Given the description of an element on the screen output the (x, y) to click on. 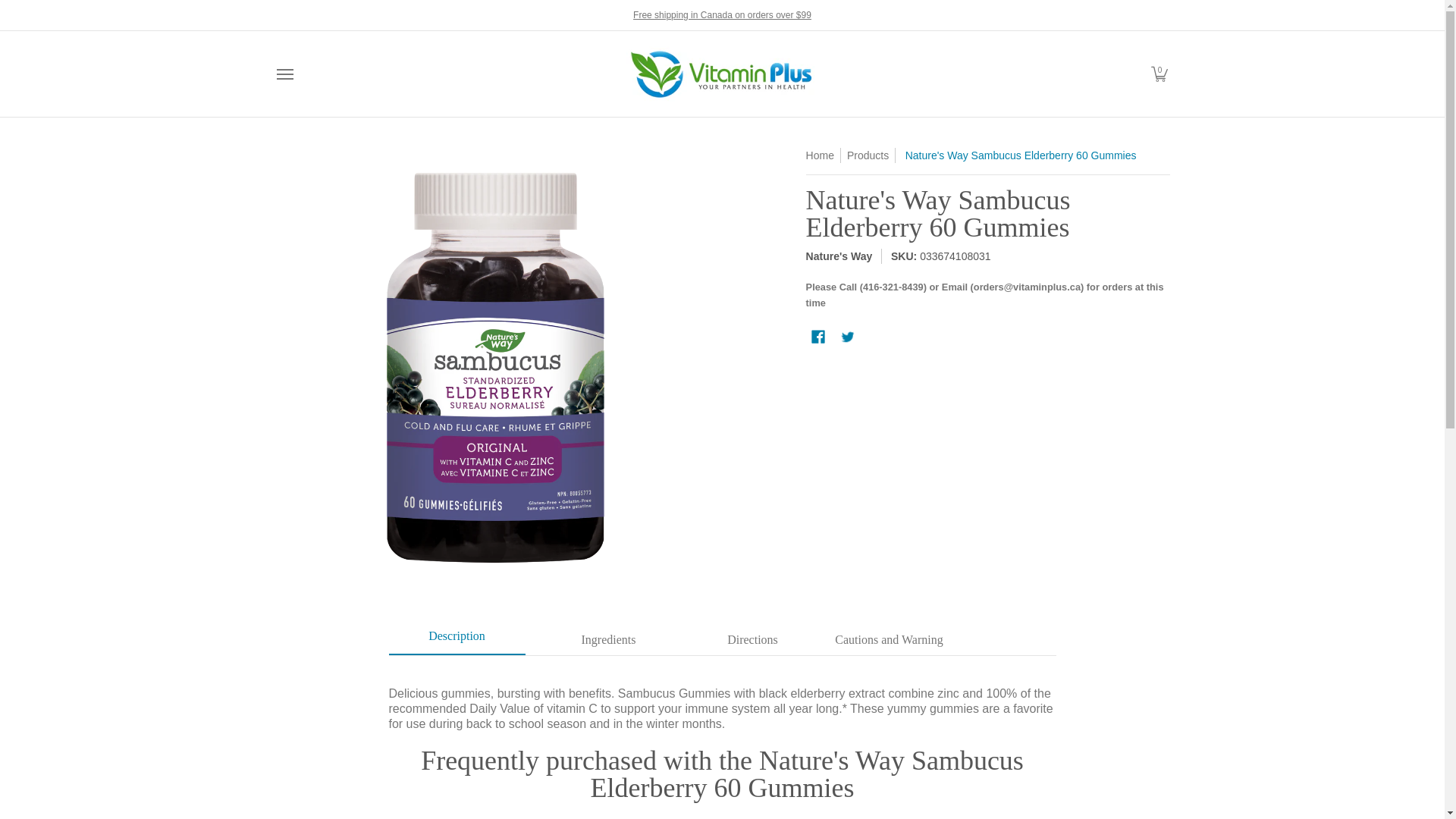
Ingredients (608, 640)
Products (867, 155)
Cautions and Warning (888, 640)
Vitamin Plus (720, 73)
Description (456, 640)
Directions (752, 640)
Shipping Policy (721, 14)
Home (820, 155)
Nature's Way (839, 256)
